Given the description of an element on the screen output the (x, y) to click on. 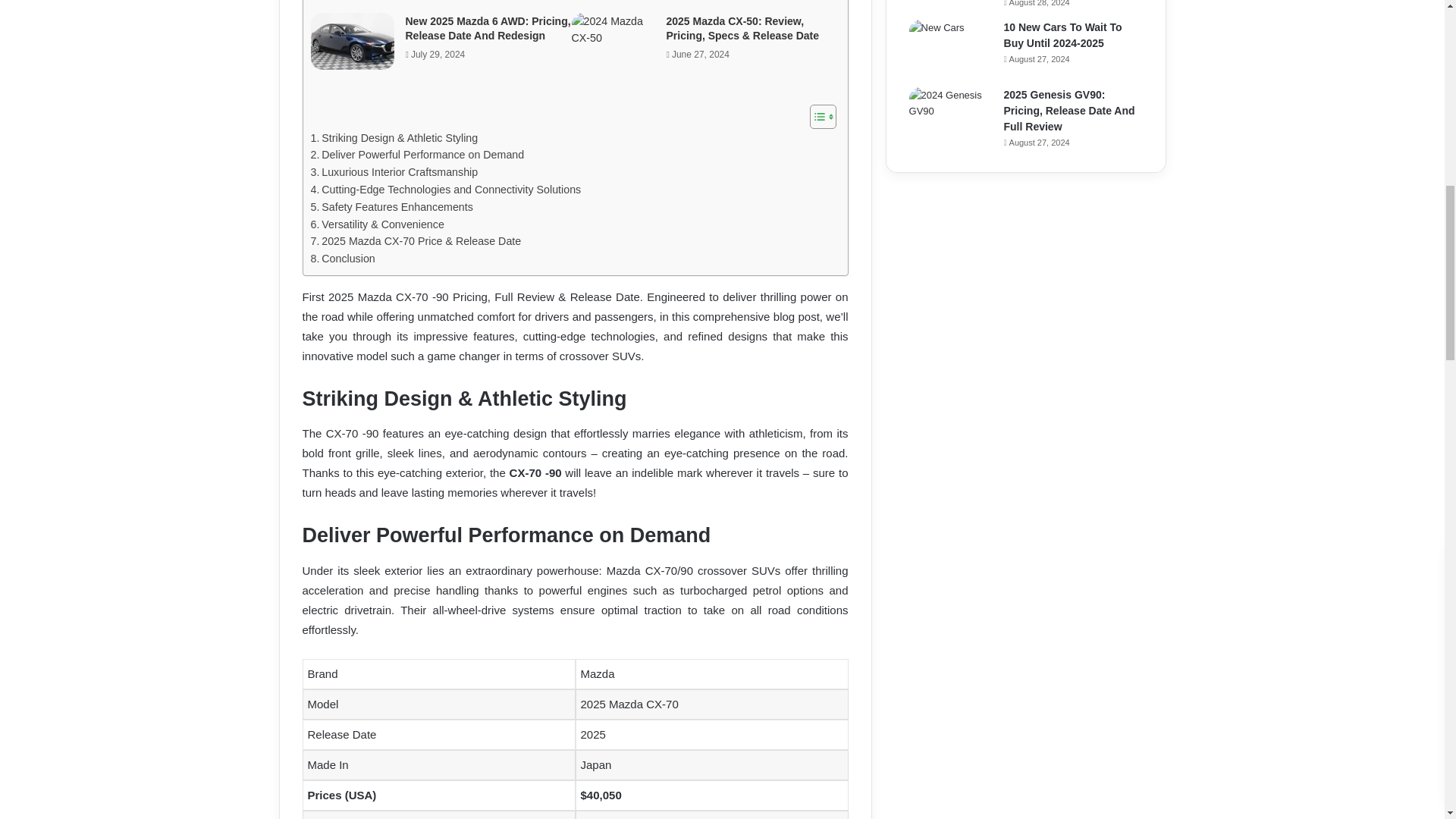
Luxurious Interior Craftsmanship (395, 171)
Safety Features Enhancements (392, 207)
Cutting-Edge Technologies and Connectivity Solutions (445, 189)
Deliver Powerful Performance on Demand (417, 154)
Luxurious Interior Craftsmanship (395, 171)
New 2025 Mazda 6 AWD: Pricing, Release Date And Redesign (487, 29)
Conclusion (343, 258)
New 2025 Mazda 6 AWD: Pricing, Release Date And Redesign 5 (352, 41)
Deliver Powerful Performance on Demand (417, 154)
